Given the description of an element on the screen output the (x, y) to click on. 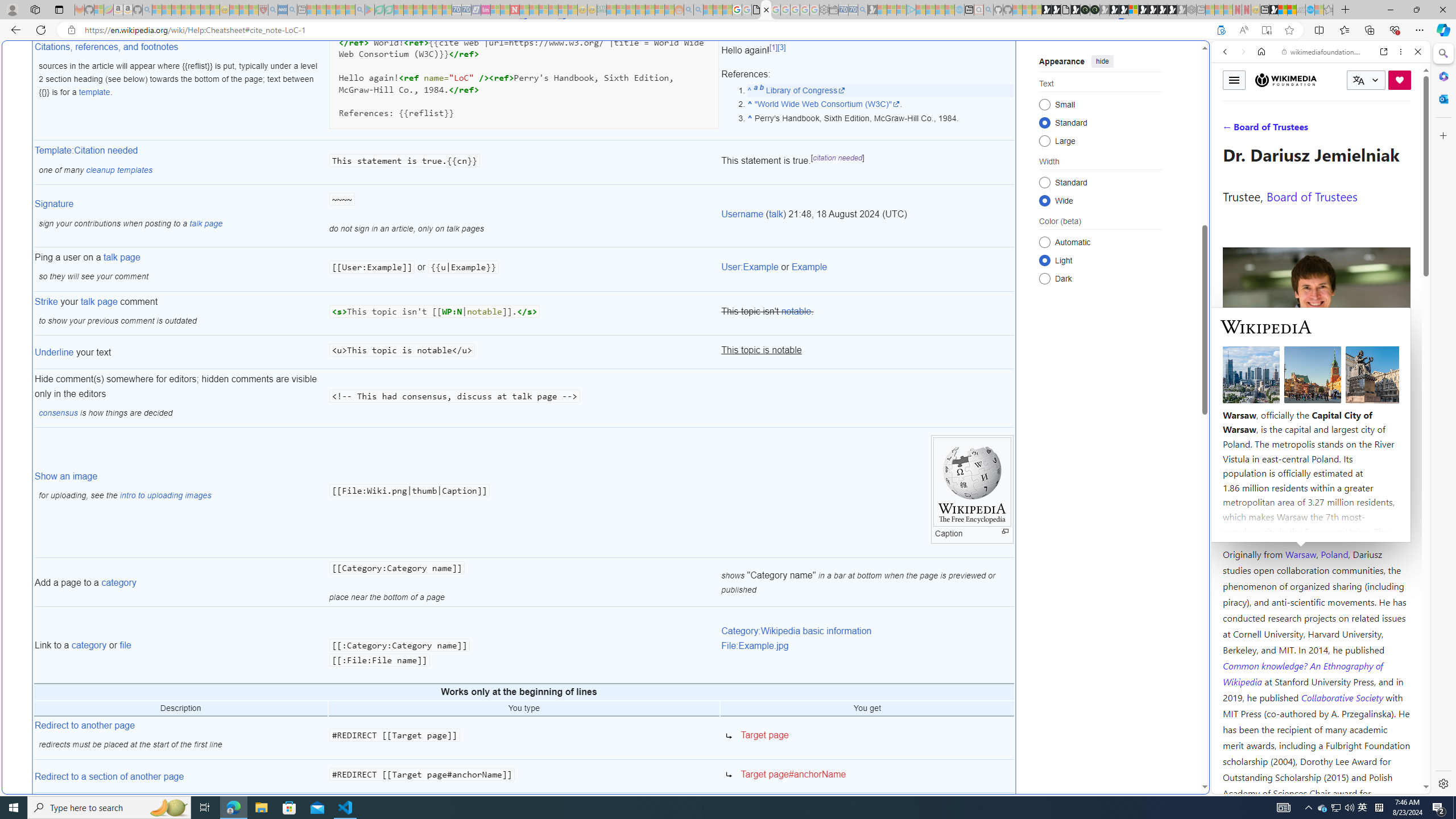
Redirect to a section of another page (109, 776)
Template:Citation needed (86, 150)
Username (talk) 21:48, 18 August 2024 (UTC) (866, 215)
Services - Maintenance | Sky Blue Bikes - Sky Blue Bikes (1309, 9)
Sign in to your account (1133, 9)
Ping a user on a talk page so they will see your comment (180, 268)
Add a page to a category (180, 582)
[[Category:Category name]] place near the bottom of a page (523, 582)
Show an image (65, 475)
You get (866, 708)
You type (523, 708)
